Given the description of an element on the screen output the (x, y) to click on. 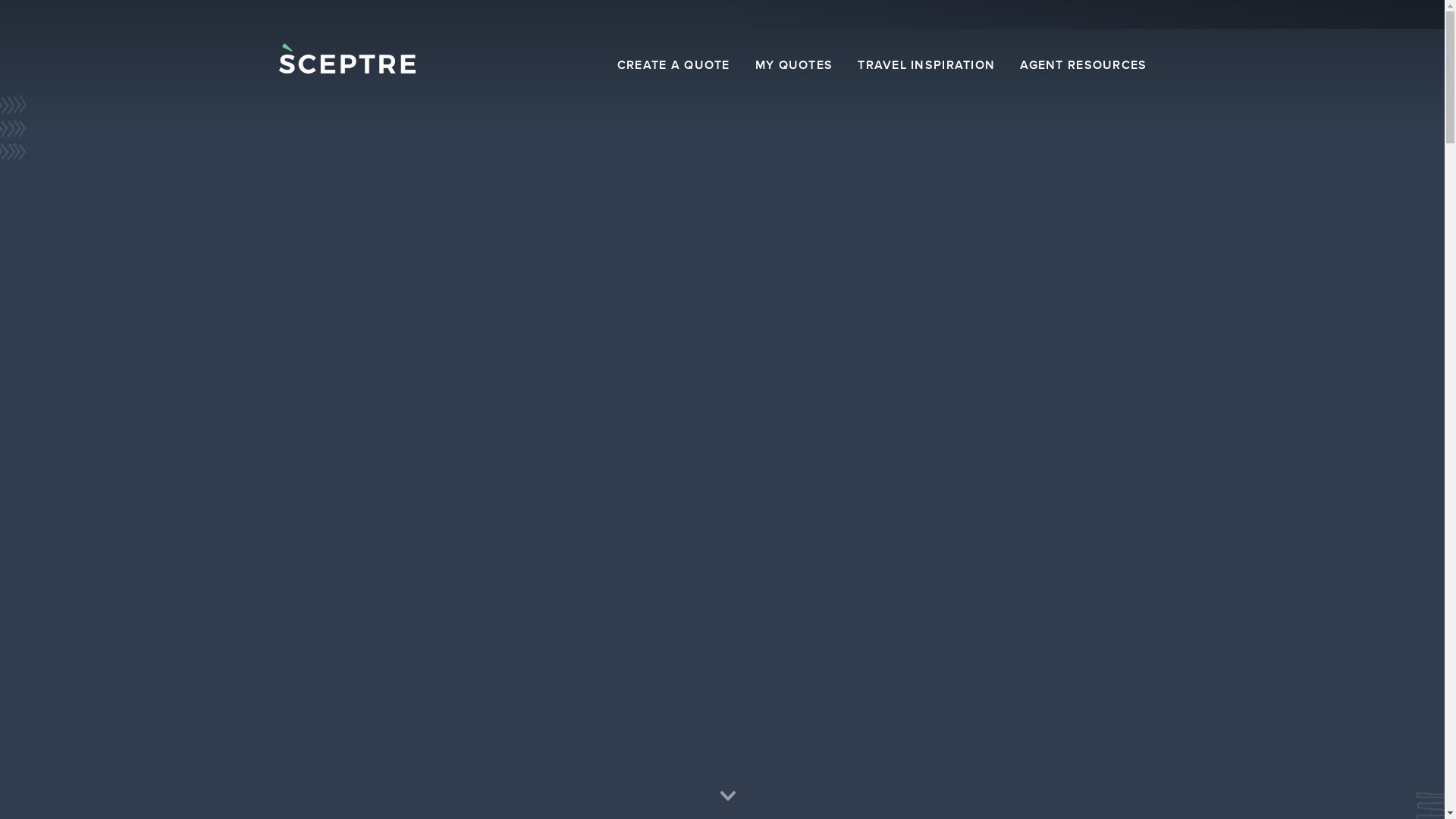
CREATE A QUOTE Element type: text (673, 65)
MY QUOTES Element type: text (794, 65)
TRAVEL INSPIRATION Element type: text (925, 65)
AGENT RESOURCES Element type: text (1082, 65)
